Given the description of an element on the screen output the (x, y) to click on. 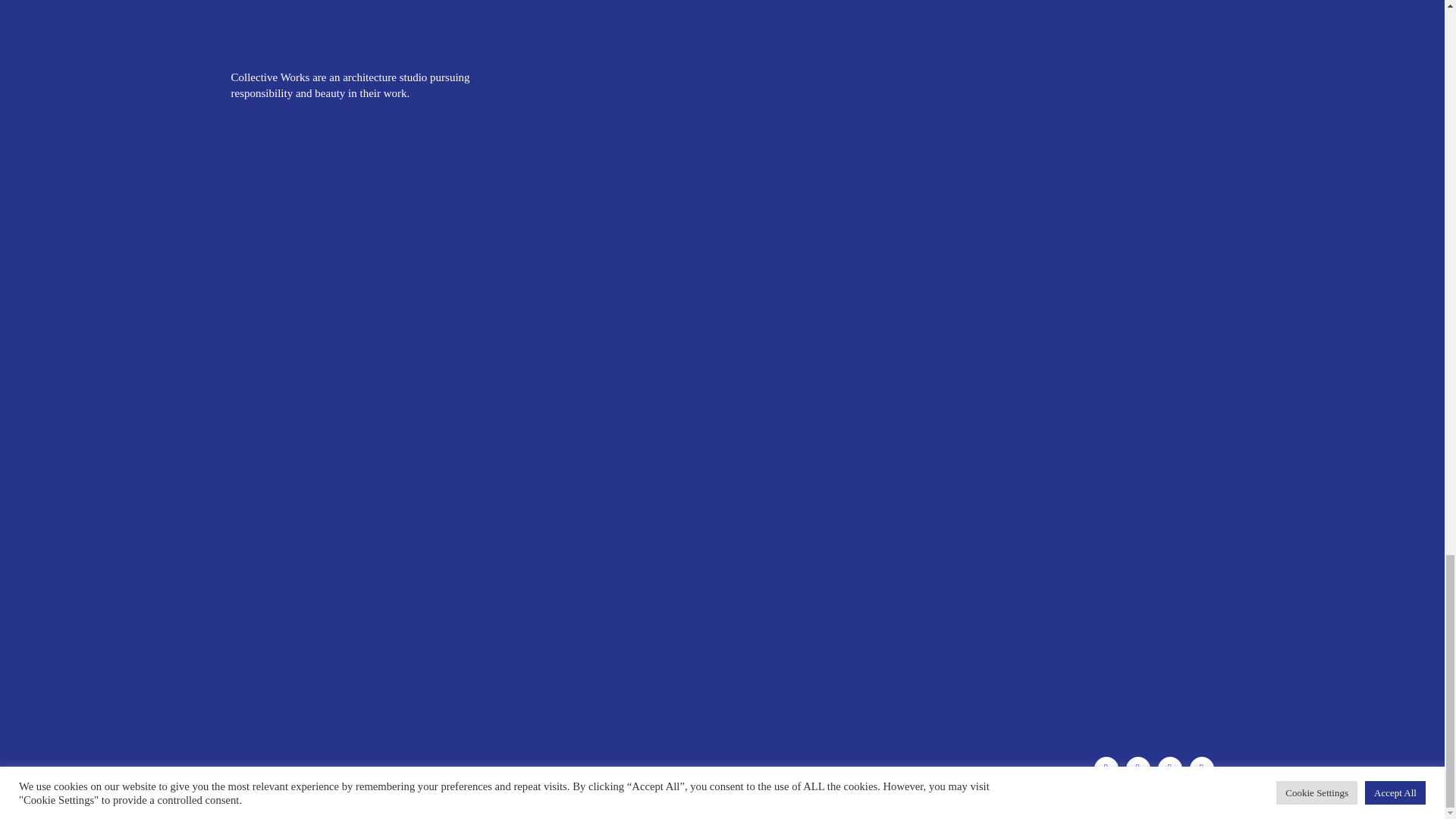
Privacy Policy (882, 773)
Site by Slate (958, 773)
